Given the description of an element on the screen output the (x, y) to click on. 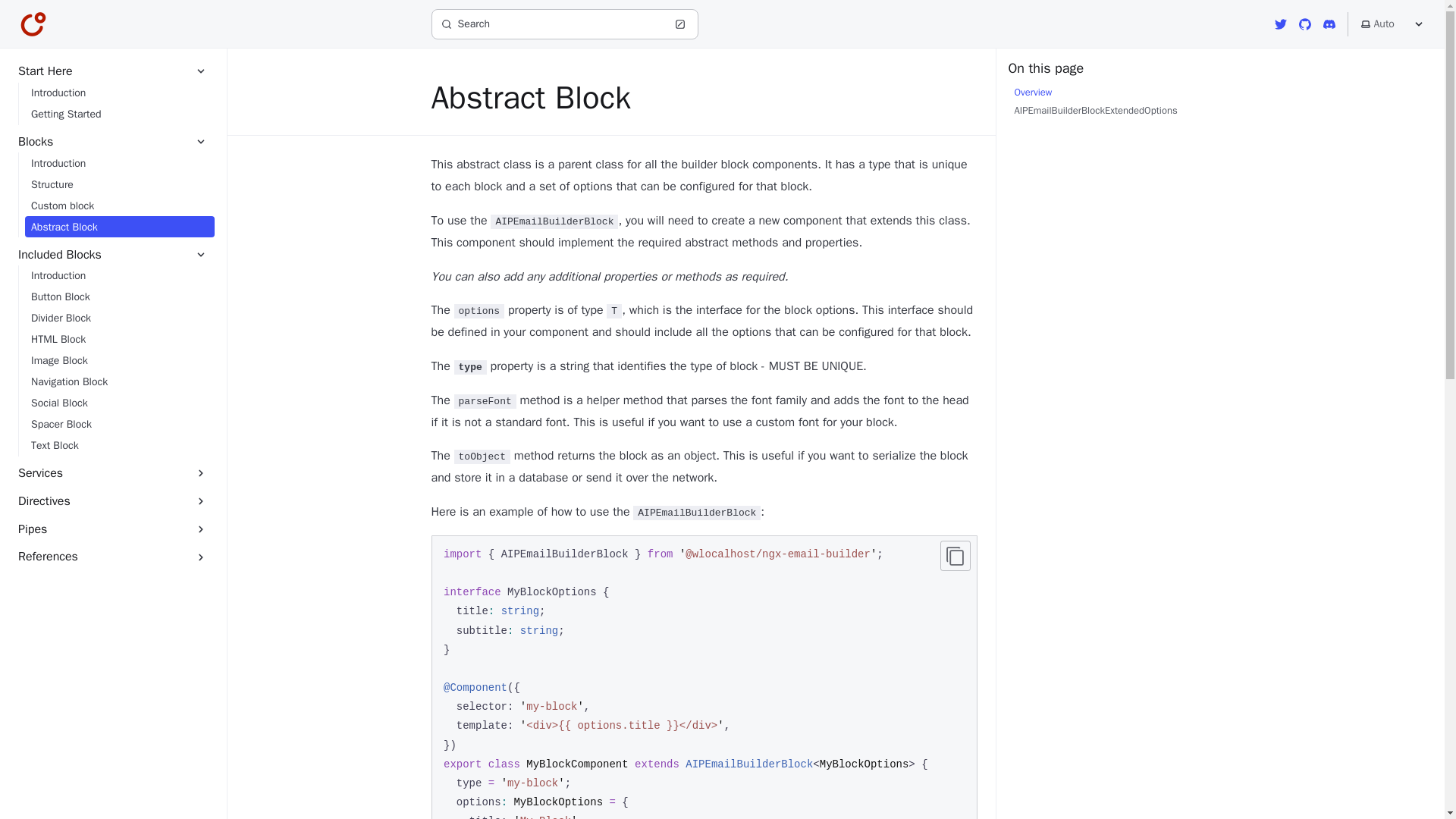
Getting Started (119, 114)
Introduction (119, 275)
Abstract Block (119, 226)
Search (563, 24)
Spacer Block (119, 424)
Navigation Block (119, 382)
Copy to clipboard (955, 555)
Button Block (119, 296)
Social Block (119, 403)
Introduction (119, 93)
